Given the description of an element on the screen output the (x, y) to click on. 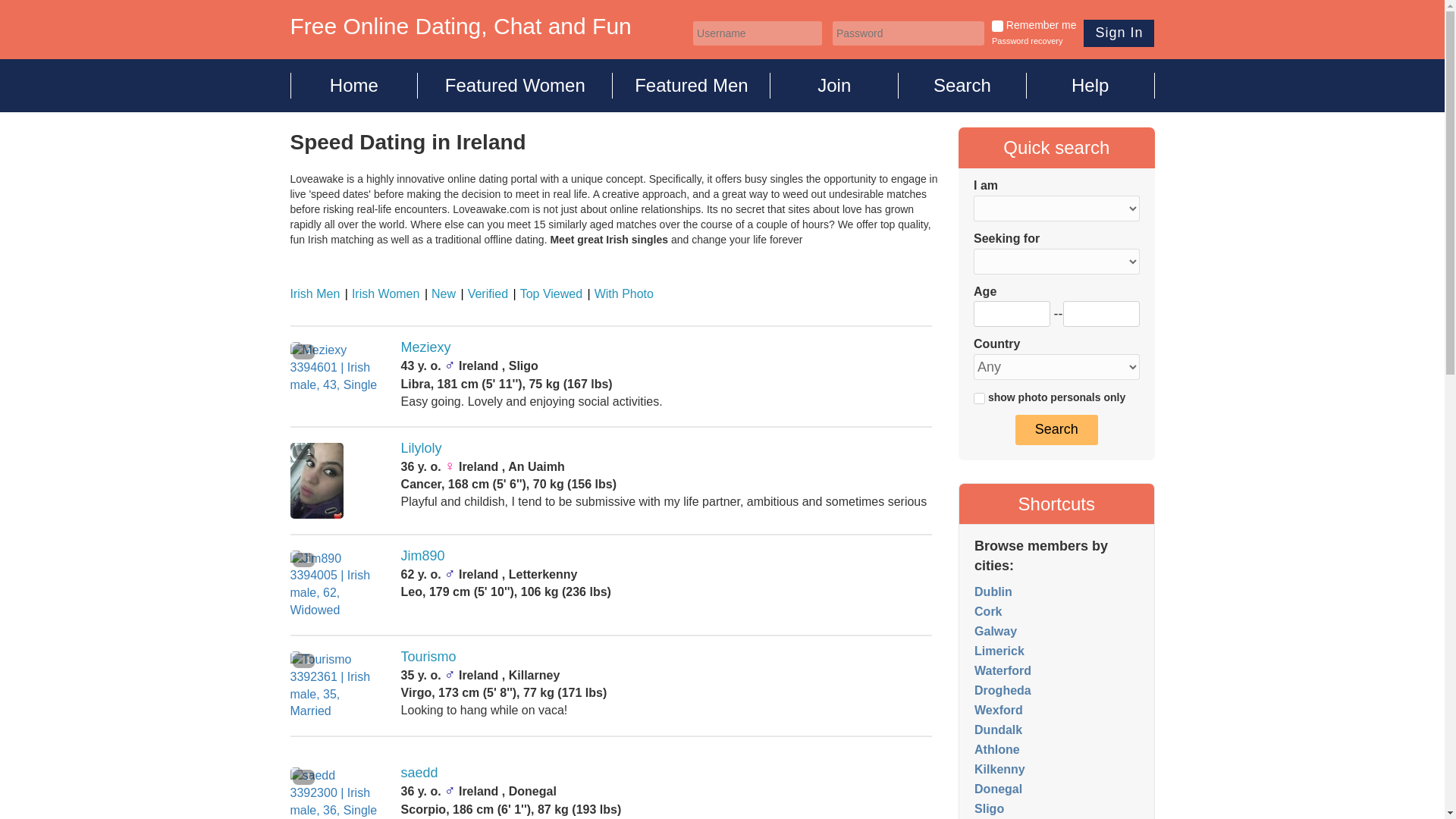
saedd (419, 772)
Password recovery (1026, 40)
Sign In (1118, 32)
Lilyloly (421, 447)
Featured Men (691, 85)
Search (962, 85)
Irish Women (381, 293)
Verified (484, 293)
Top Viewed (546, 293)
Irish Men (314, 293)
Join (834, 85)
Meziexy (426, 346)
Tourismo (429, 656)
Help (1090, 85)
With Photo (619, 293)
